Given the description of an element on the screen output the (x, y) to click on. 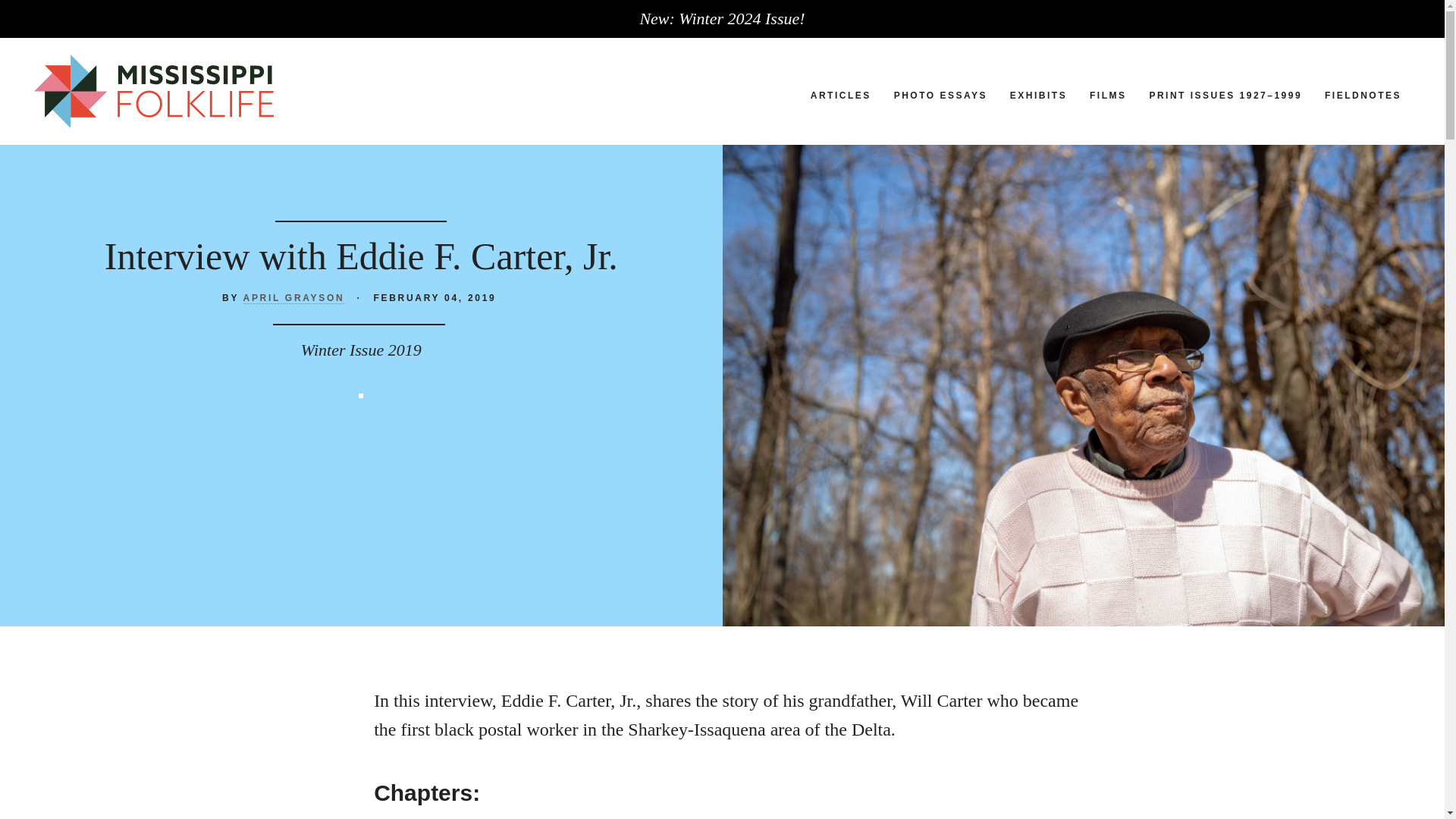
APRIL GRAYSON (294, 297)
FILMS (1107, 95)
ARTICLES (840, 95)
FIELDNOTES (1362, 95)
EXHIBITS (1038, 95)
PHOTO ESSAYS (940, 95)
